Given the description of an element on the screen output the (x, y) to click on. 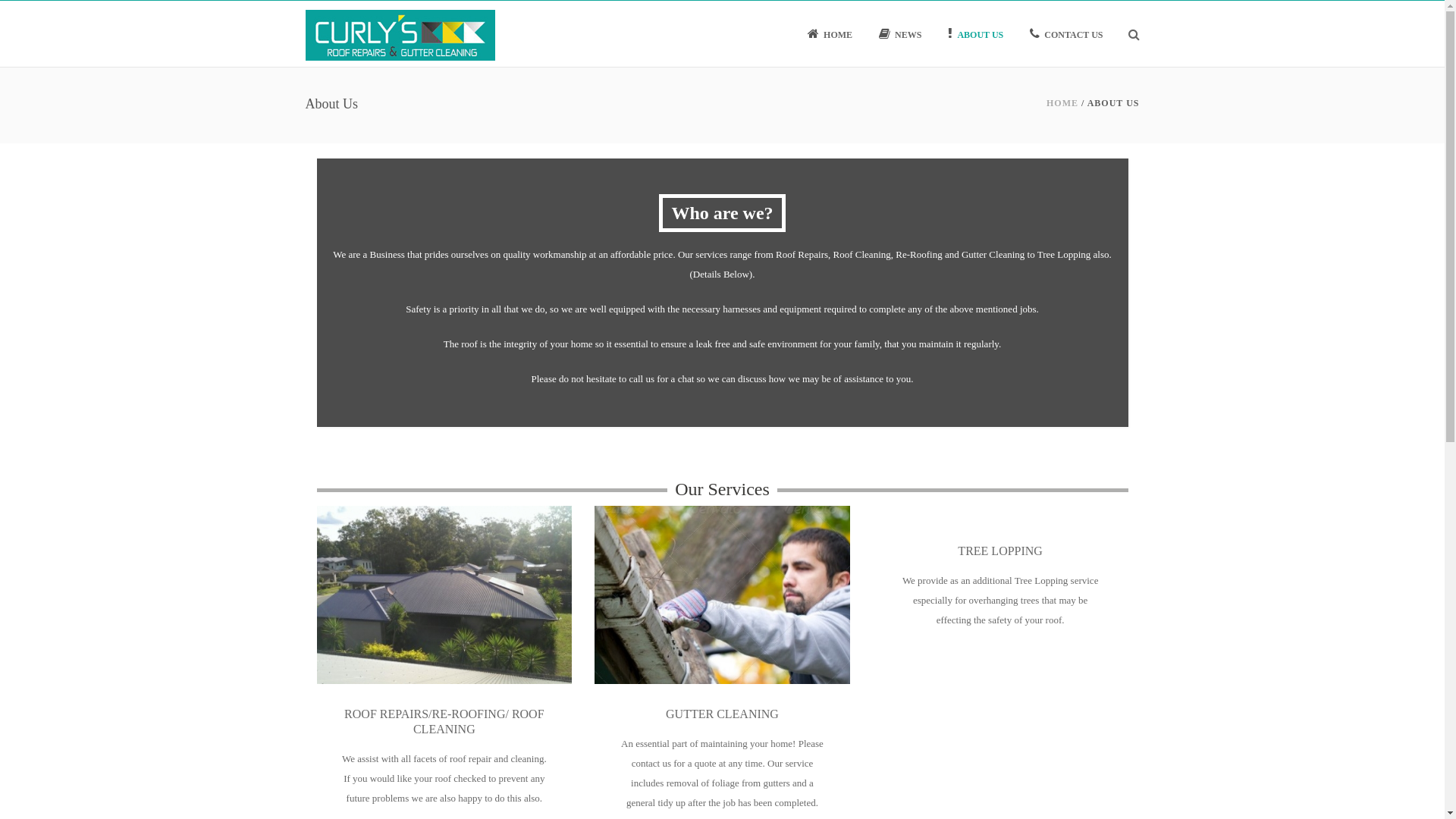
CONTACT US Element type: text (1065, 33)
IMAG0153 Element type: hover (437, 590)
NEWS Element type: text (900, 33)
HOME Element type: text (1062, 102)
HOME Element type: text (829, 33)
110111IMG_0055 Element type: hover (721, 593)
Curlys Roofing Element type: hover (399, 33)
ABOUT US Element type: text (975, 33)
IMAG0153 Element type: hover (443, 593)
110111IMG_0055 Element type: hover (716, 590)
IMG_3923 copia Element type: hover (999, 511)
